Given the description of an element on the screen output the (x, y) to click on. 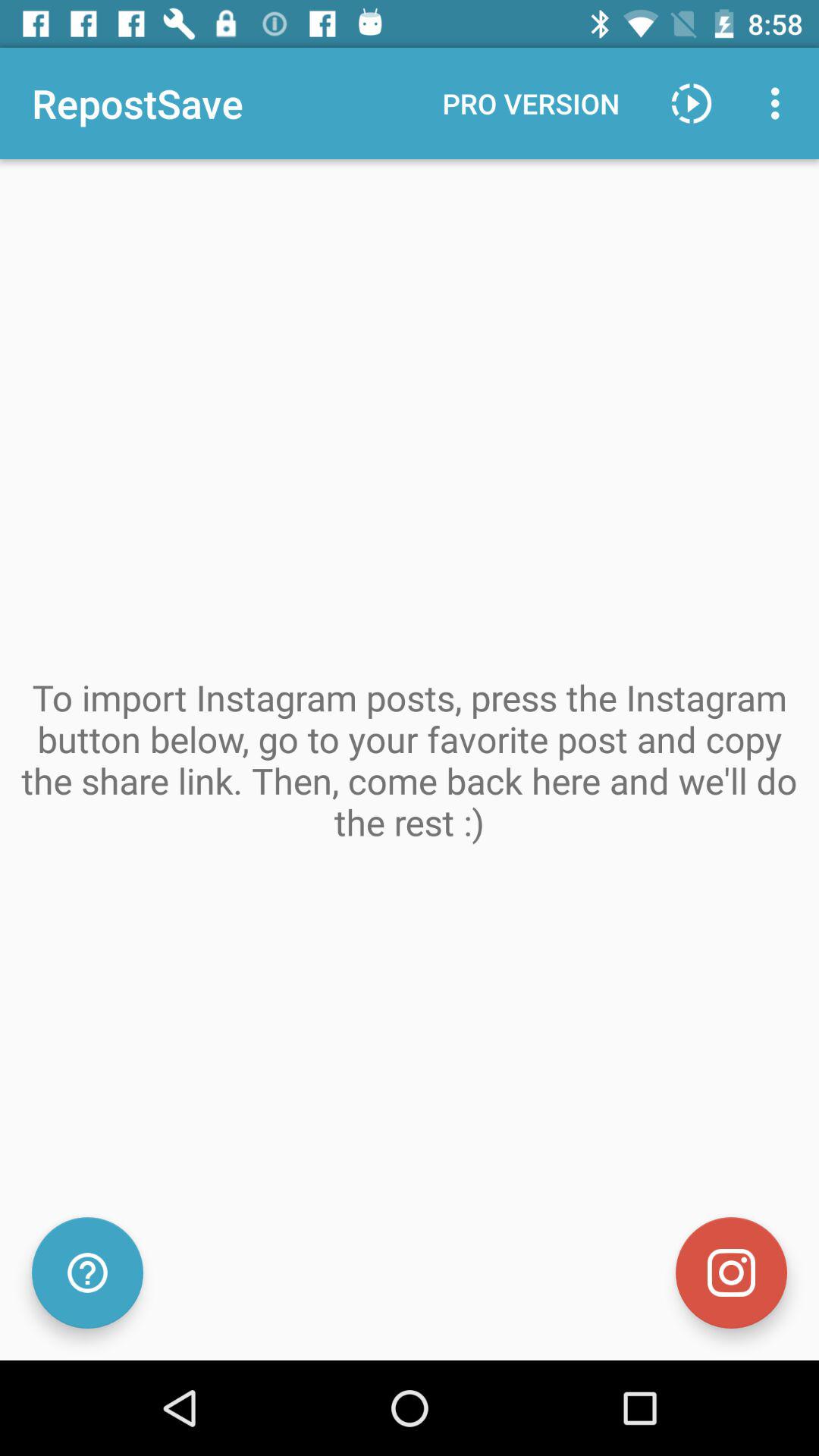
press the item below to import instagram item (87, 1272)
